Given the description of an element on the screen output the (x, y) to click on. 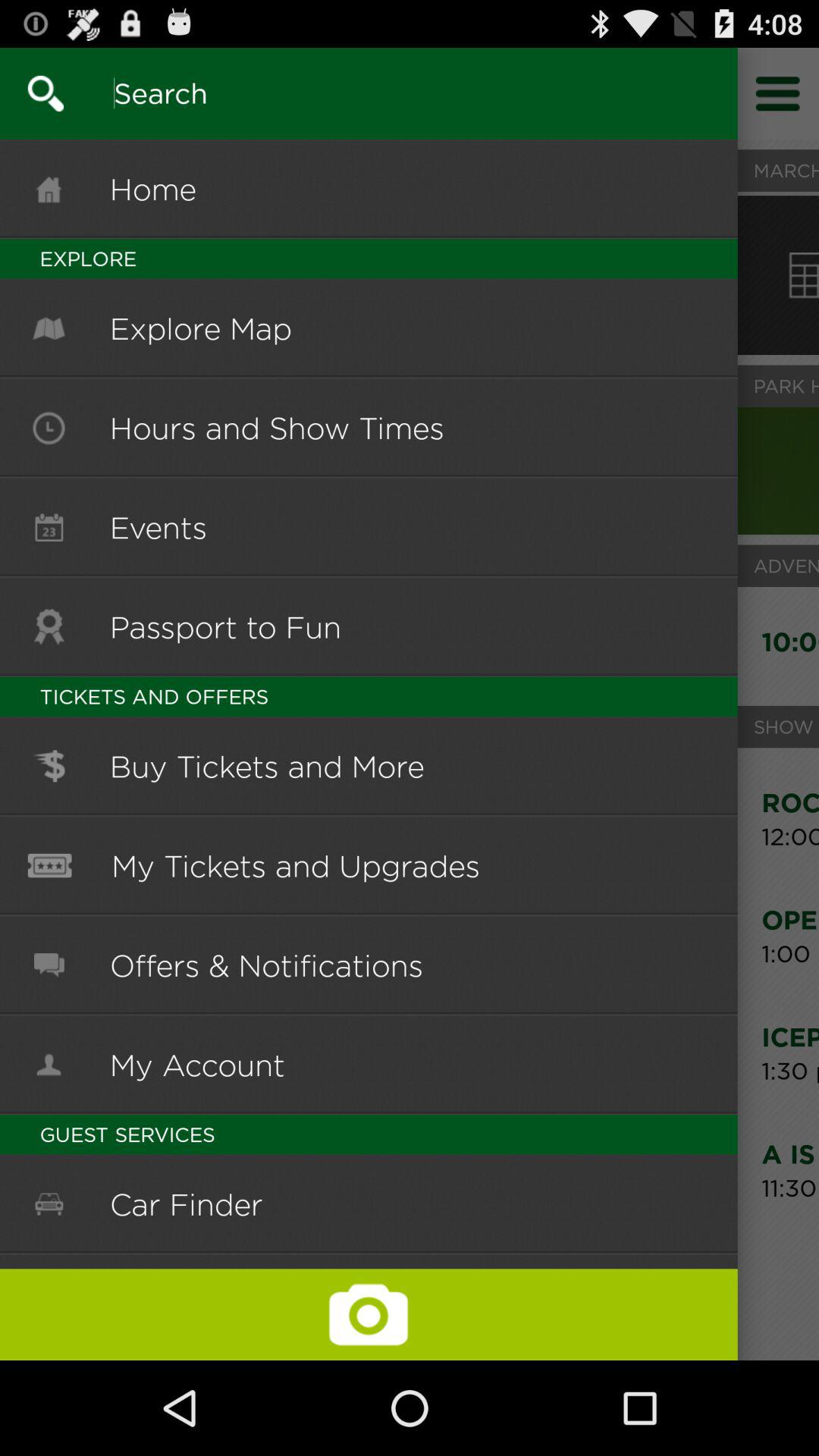
click the icon of camera below car finder (368, 1314)
